Given the description of an element on the screen output the (x, y) to click on. 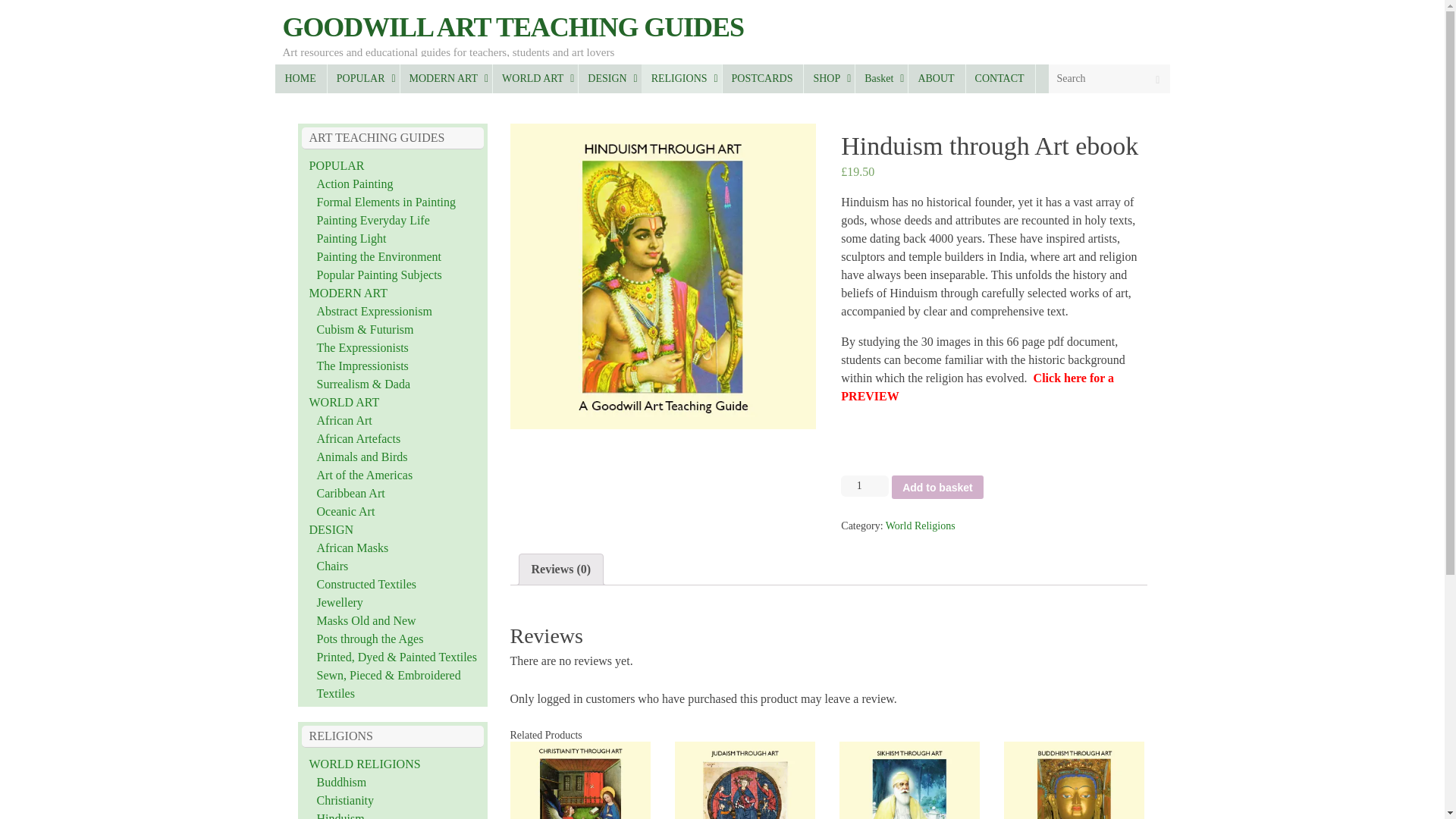
HOME (300, 78)
Hinduism through Art ebook (662, 276)
DESIGN (609, 78)
GOODWILL ART TEACHING GUIDES (512, 27)
WORLD ART (535, 78)
1 (864, 485)
MODERN ART (445, 78)
Qty (864, 485)
GOODWILL ART TEACHING GUIDES (512, 27)
Christianity through Art ebook (579, 780)
Judaism through Art ebook (745, 780)
RELIGIONS (682, 78)
Buddhism through Art ebook (1074, 780)
POPULAR (362, 78)
Sikhism through Art ebook (909, 780)
